Given the description of an element on the screen output the (x, y) to click on. 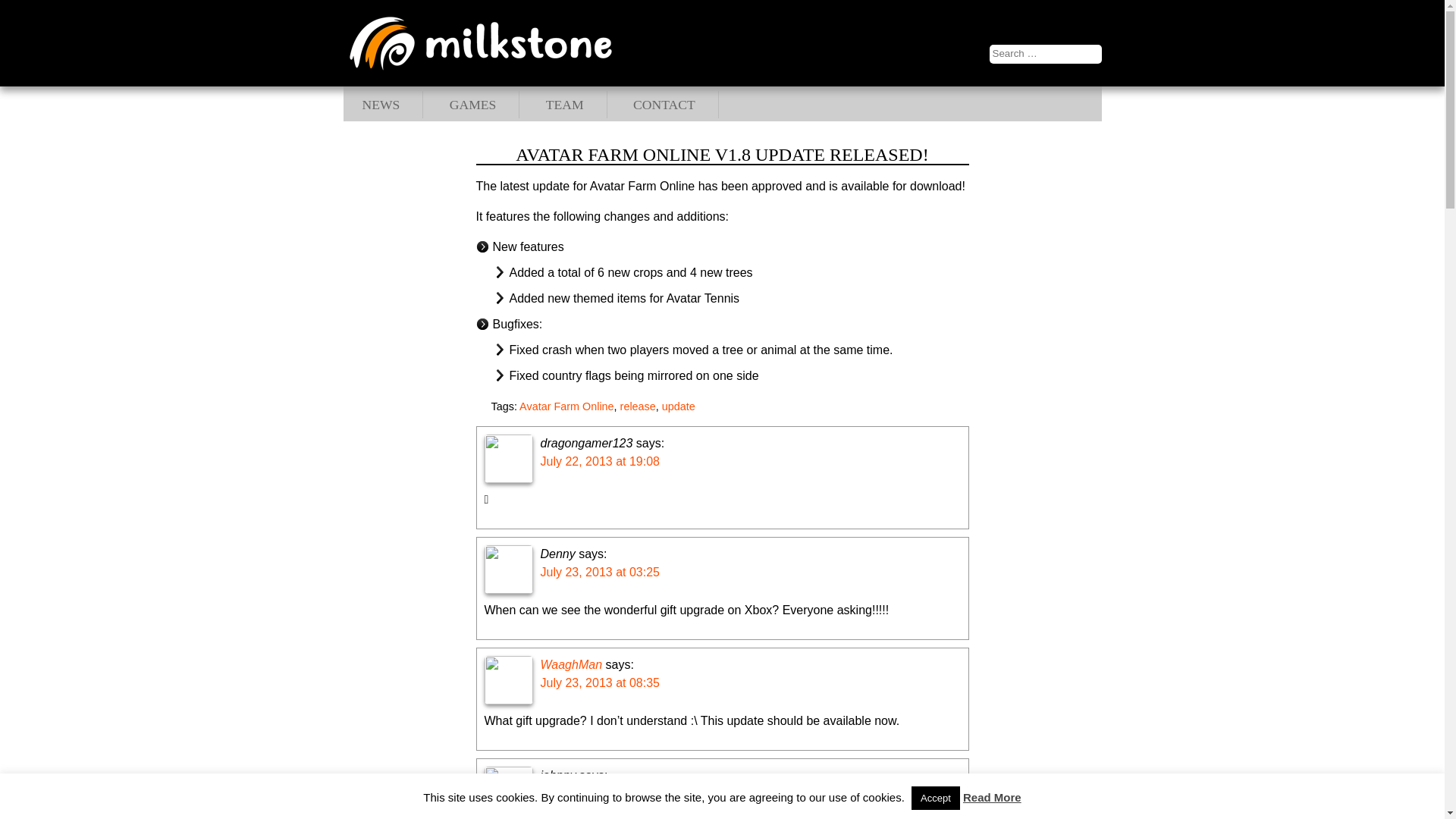
Avatar Farm Online v1.8 update released! (721, 154)
July 22, 2013 at 19:08 (599, 461)
Avatar Farm Online (566, 406)
NEWS (381, 104)
GAMES (472, 104)
July 23, 2013 at 11:58 (599, 793)
WaaghMan (571, 664)
TEAM (564, 104)
July 23, 2013 at 03:25 (599, 571)
July 23, 2013 at 08:35 (599, 682)
AVATAR FARM ONLINE V1.8 UPDATE RELEASED! (721, 154)
update (678, 406)
CONTACT (664, 104)
release (638, 406)
